Given the description of an element on the screen output the (x, y) to click on. 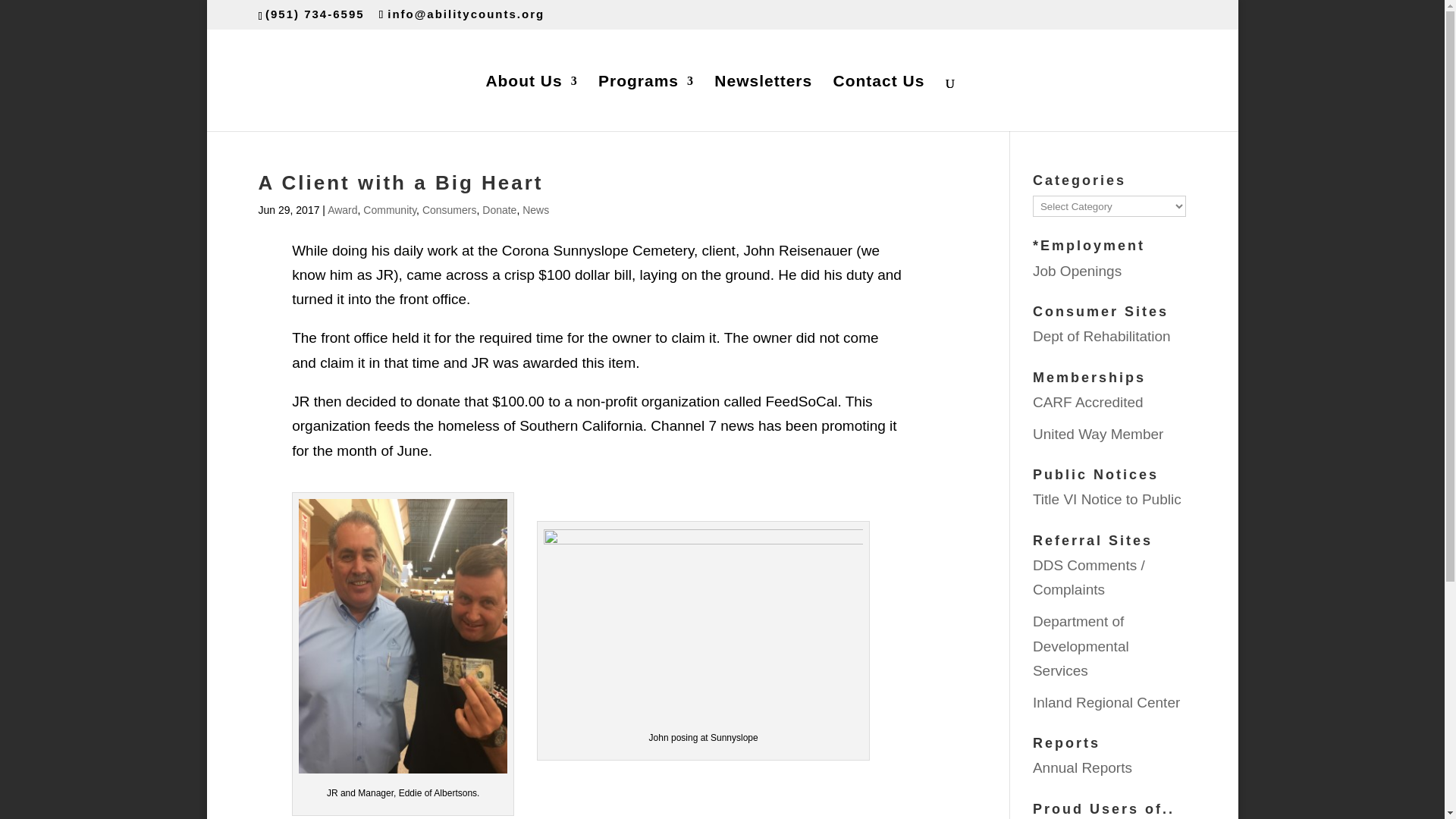
Award (341, 209)
Annual Reports (1082, 767)
Commission on Accreditation of Rehabilitation Facilities (1087, 401)
Newsletters (763, 103)
Corona-Norco (1097, 433)
Community (389, 209)
Department of Developmental Services (1080, 645)
Department of Developmental Services (1080, 645)
Job Openings (1076, 270)
Consumers (449, 209)
A Client with a Big Heart (400, 182)
Title VI Notice to Public (1106, 498)
Donate (498, 209)
News (535, 209)
Notifying the public of rights under Title VI. (1106, 498)
